Given the description of an element on the screen output the (x, y) to click on. 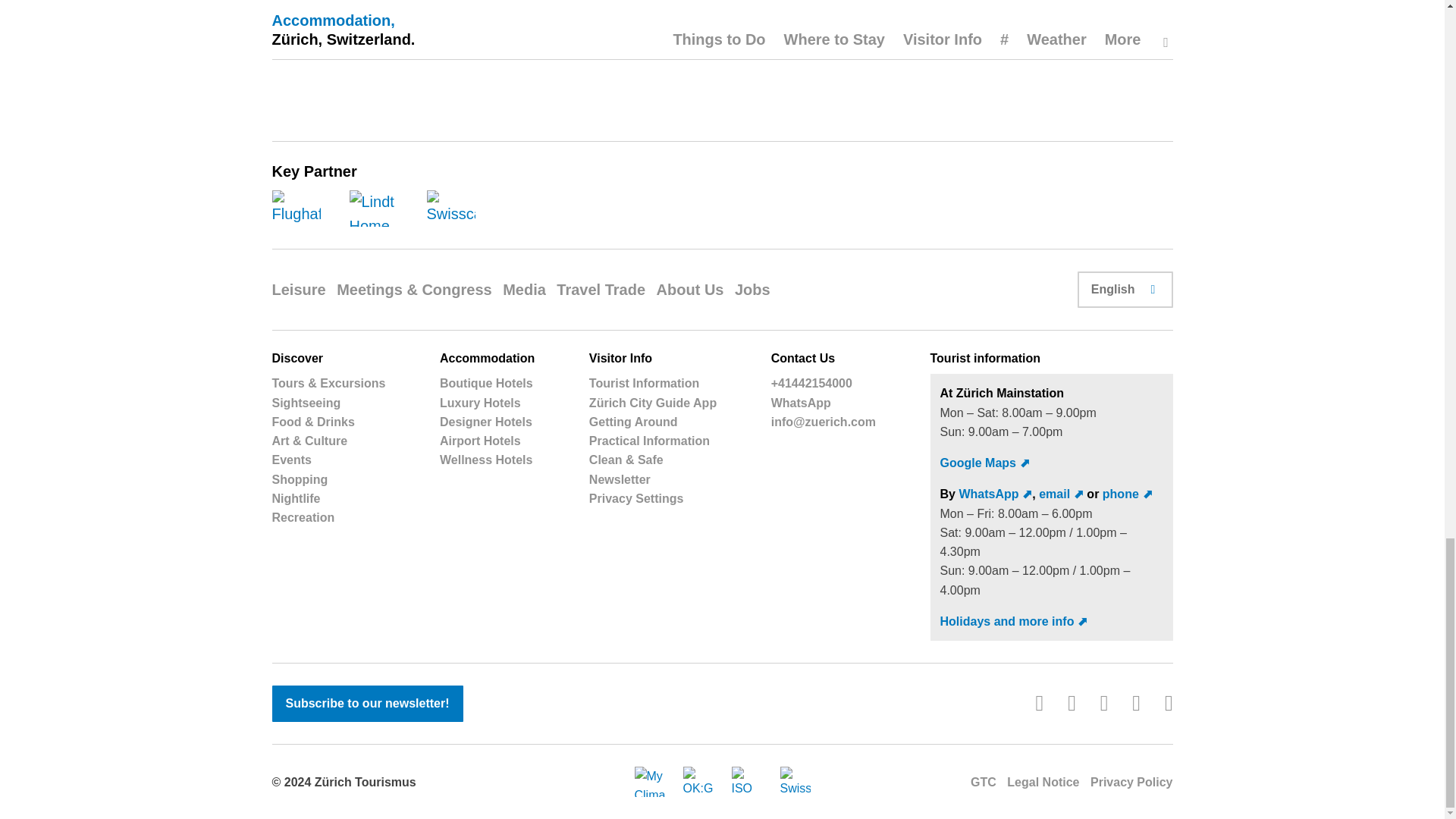
OK:GO (697, 781)
SQS (745, 781)
MyClimate (648, 781)
Swisstainable (793, 781)
Swisscasino (450, 208)
Lindt Home of Chocolate (373, 208)
